Given the description of an element on the screen output the (x, y) to click on. 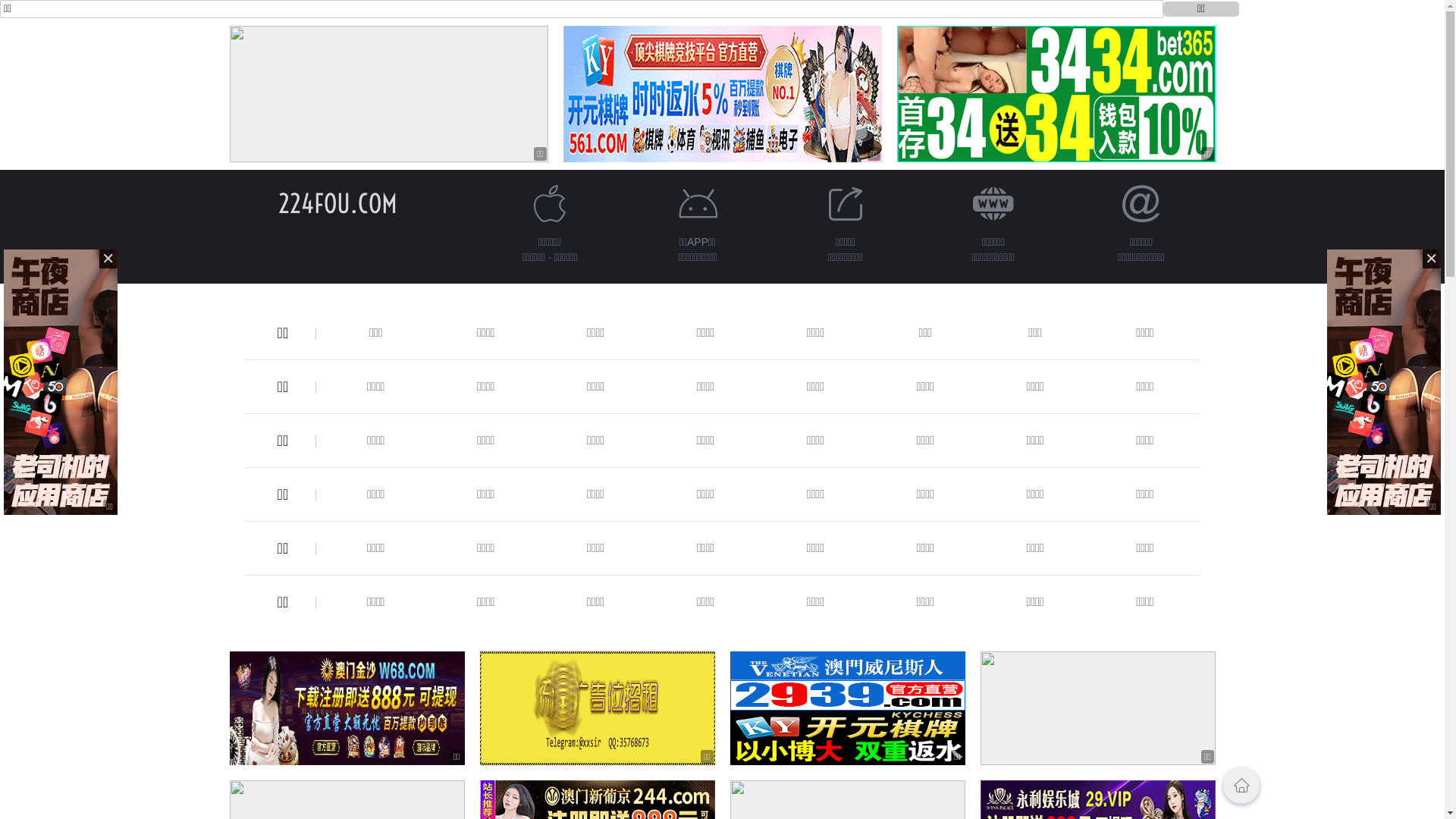
224FOU.COM Element type: text (337, 203)
